Given the description of an element on the screen output the (x, y) to click on. 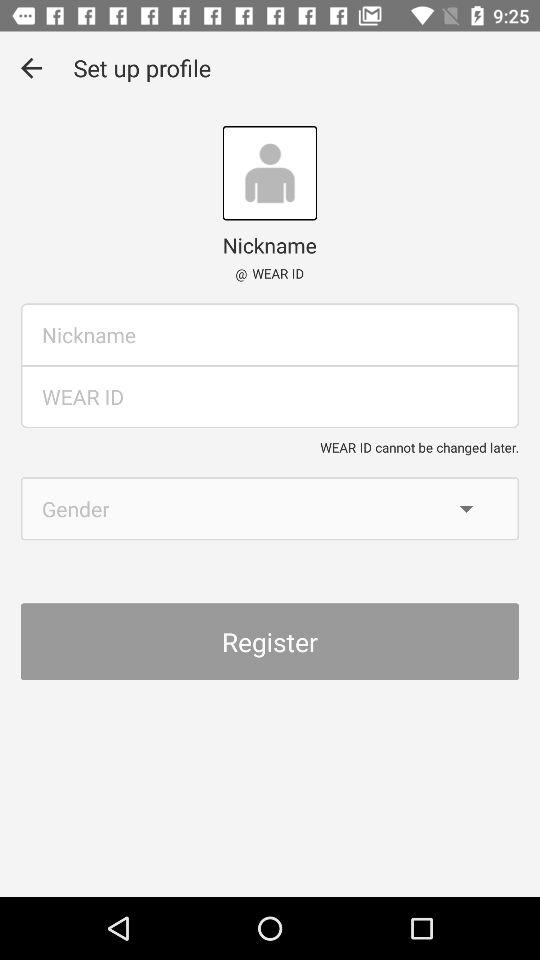
enter id option (270, 396)
